Given the description of an element on the screen output the (x, y) to click on. 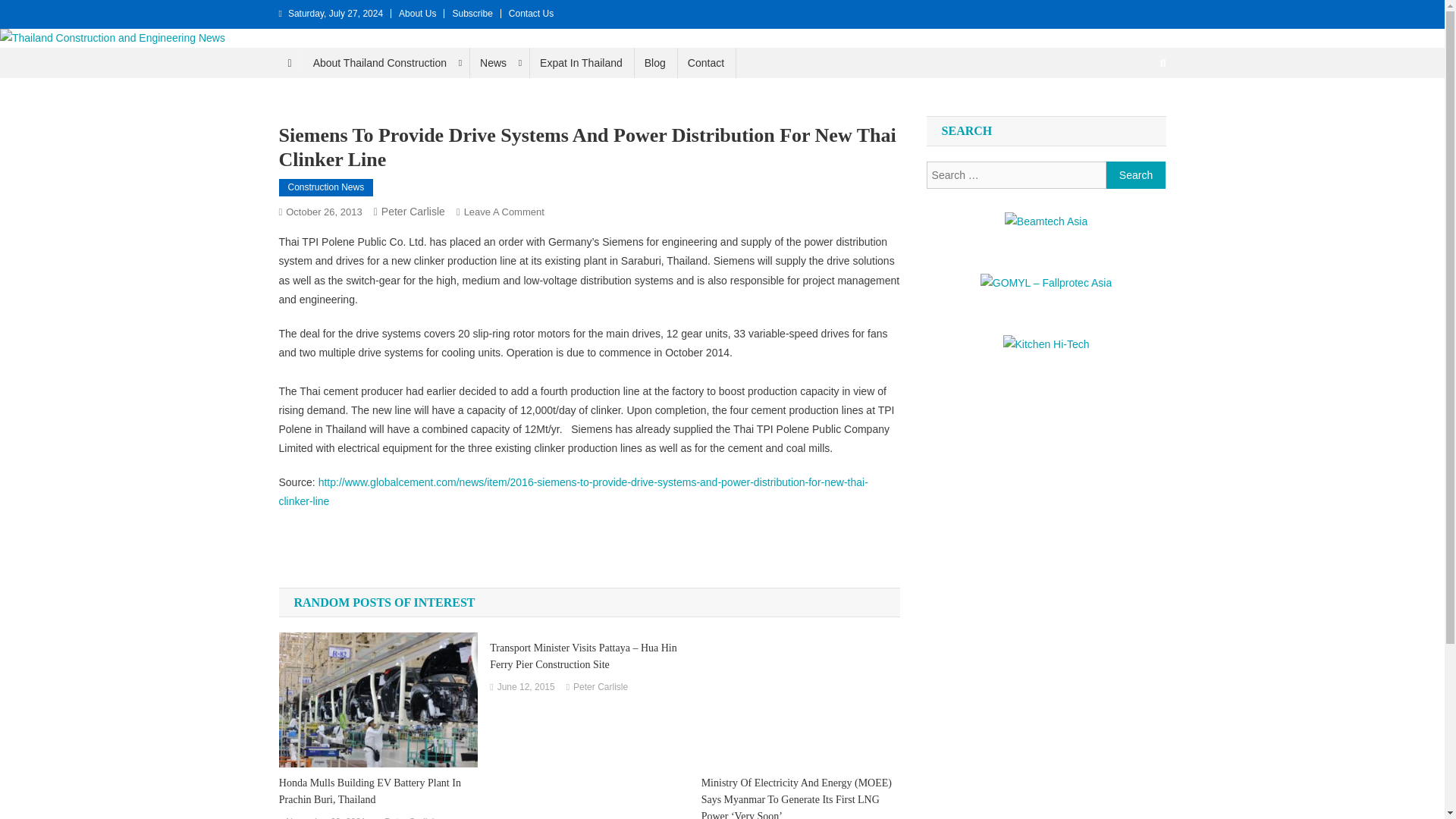
Peter Carlisle (600, 687)
Search (1133, 113)
Construction News (326, 188)
June 12, 2015 (525, 687)
Expat In Thailand (580, 62)
News (498, 62)
Contact Us (530, 13)
Peter Carlisle (411, 816)
Search (1136, 175)
About Thailand Construction (385, 62)
Thailand Construction and Engineering News (262, 62)
November 22, 2021 (325, 816)
Blog (654, 62)
